Given the description of an element on the screen output the (x, y) to click on. 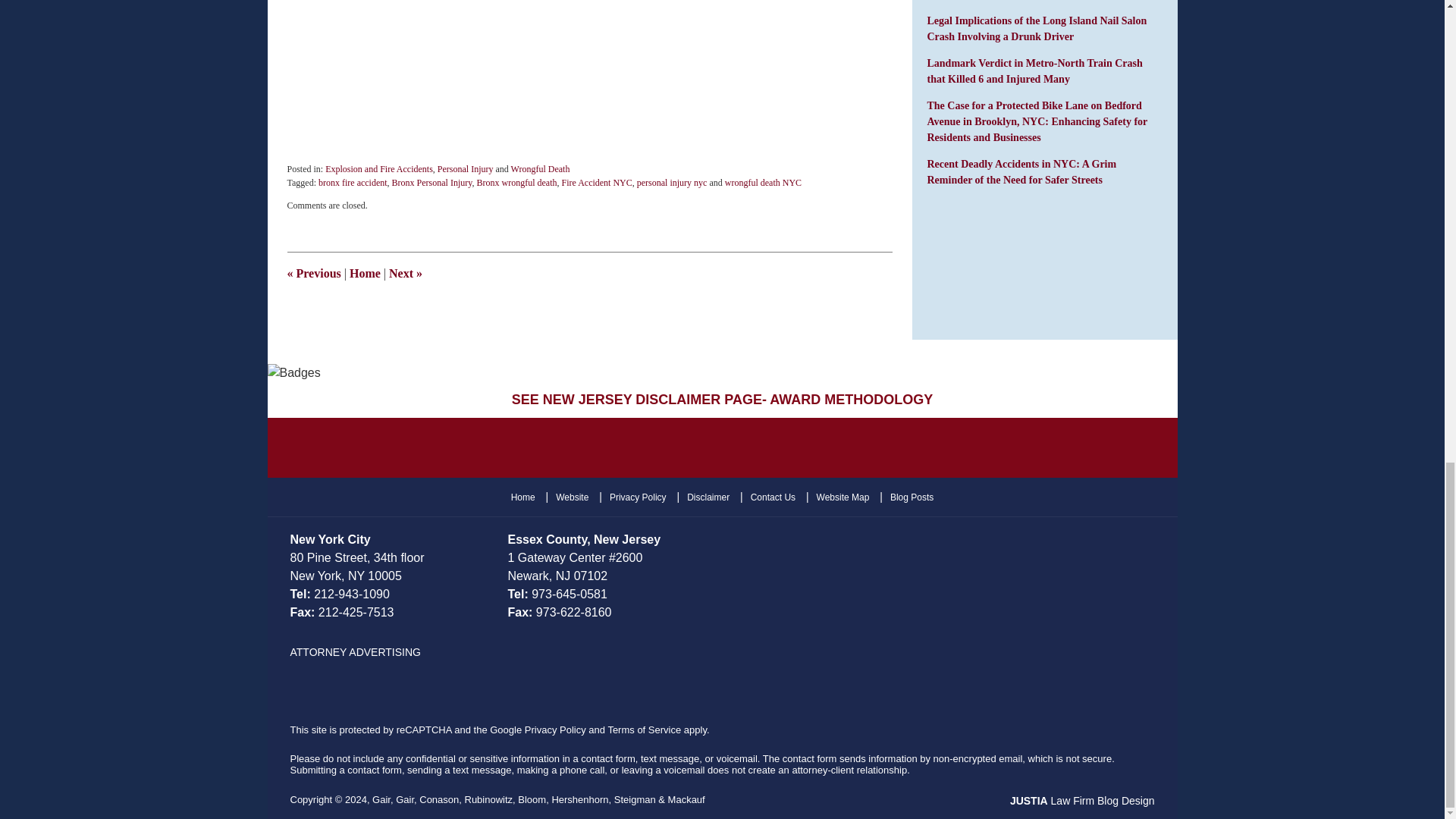
Home (364, 273)
View all posts tagged with wrongful death NYC (763, 182)
16 people injured in a MTA bus crash in Brooklyn (405, 273)
View all posts tagged with Bronx wrongful death (516, 182)
Bronx wrongful death (516, 182)
View all posts tagged with Fire Accident NYC (595, 182)
Wrongful Death (540, 168)
bronx fire accident (352, 182)
View all posts tagged with bronx fire accident (352, 182)
personal injury nyc (672, 182)
Explosion and Fire Accidents (378, 168)
Fire Accident NYC (595, 182)
View all posts tagged with personal injury nyc (672, 182)
View all posts in Wrongful Death (540, 168)
